Given the description of an element on the screen output the (x, y) to click on. 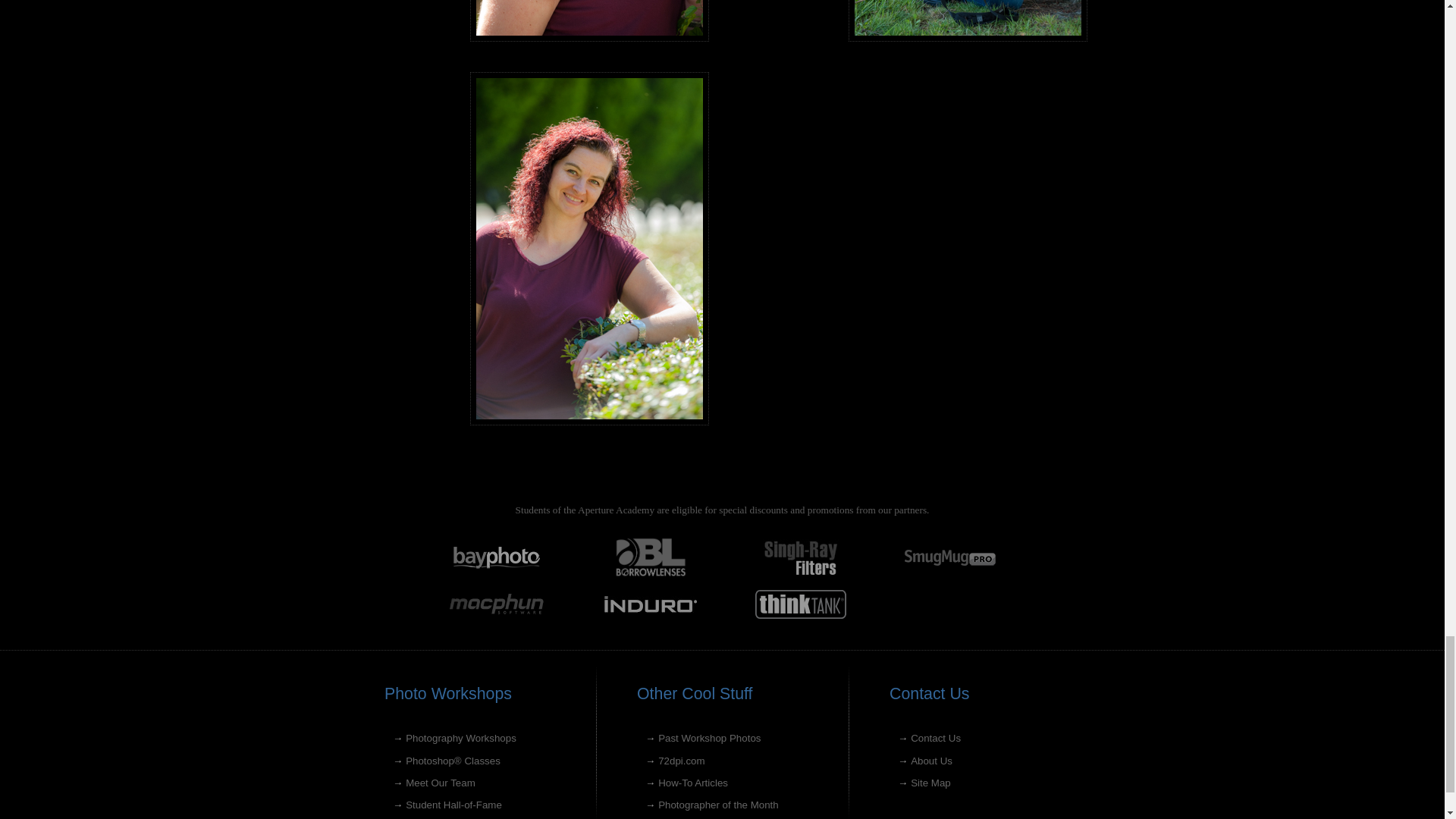
Site Map (930, 782)
72dpi.com (681, 760)
Photographer of the Month (718, 804)
Photography Workshops (461, 737)
How-To Articles (693, 782)
Contact Us (935, 737)
Past Workshop Photos (709, 737)
Meet Our Team (441, 782)
About Us (931, 760)
Student Hall-of-Fame (454, 804)
